Given the description of an element on the screen output the (x, y) to click on. 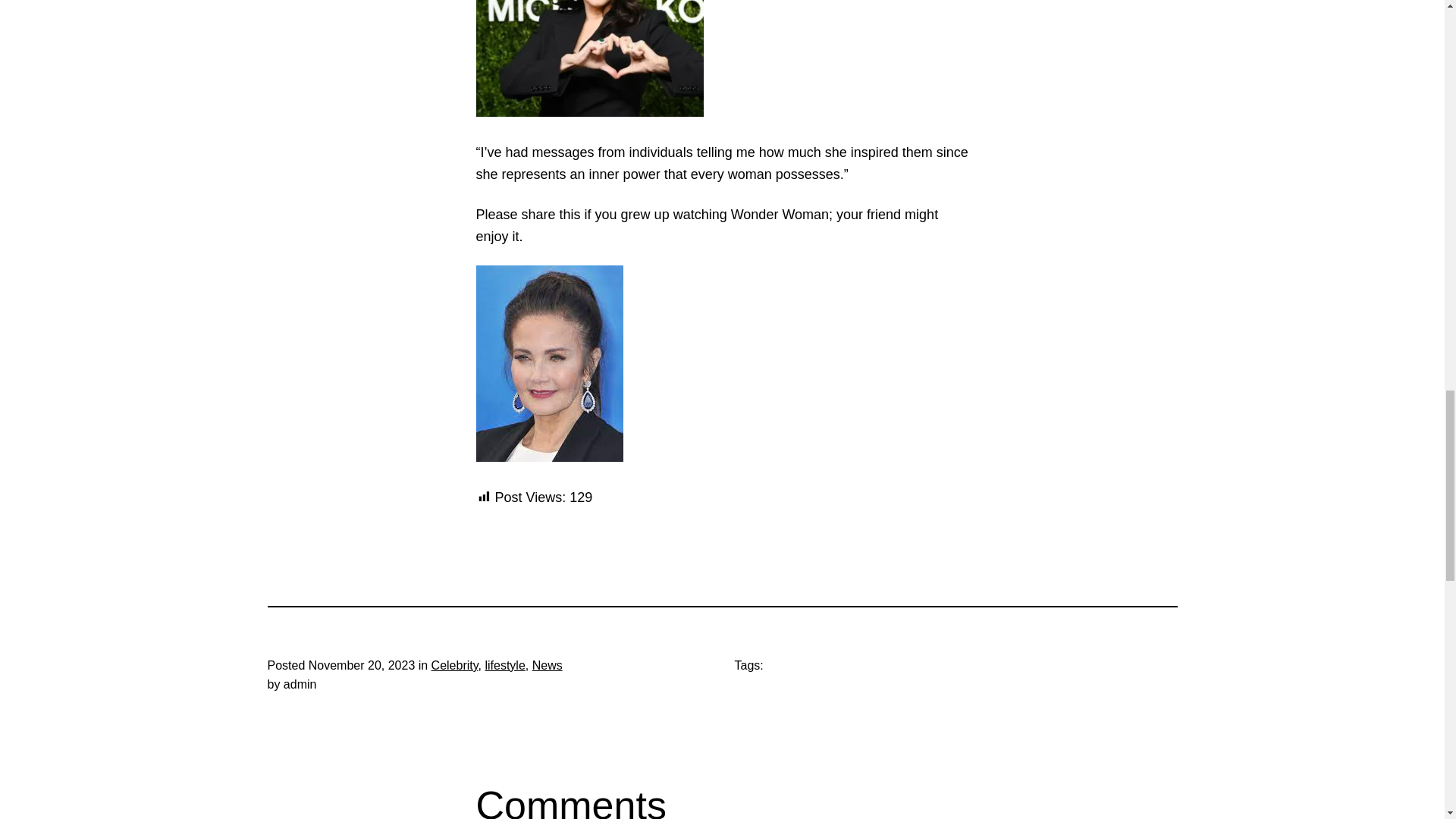
News (547, 665)
Celebrity (454, 665)
lifestyle (504, 665)
